Given the description of an element on the screen output the (x, y) to click on. 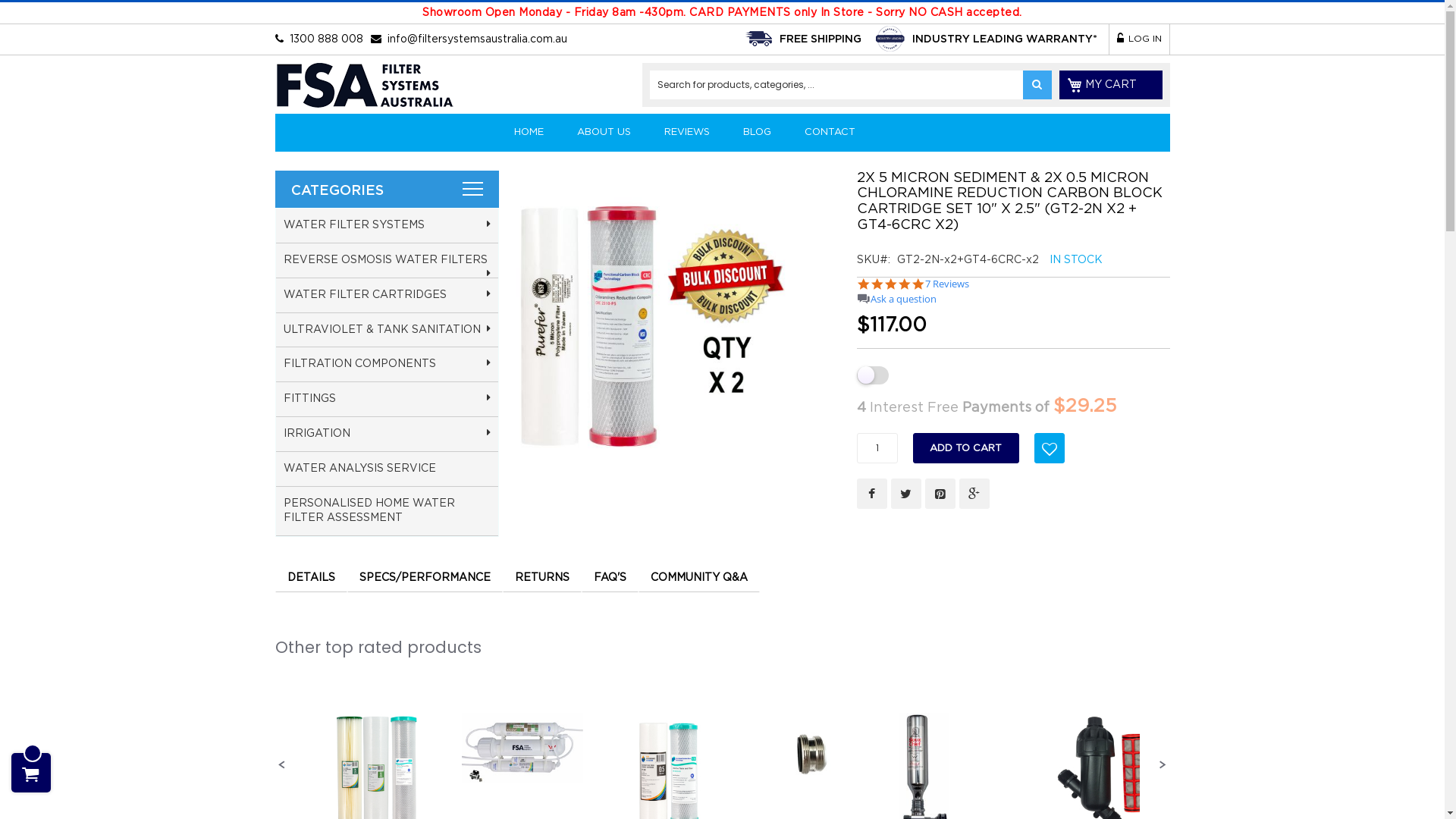
Qty Element type: hover (876, 448)
1300 888 008 Element type: text (326, 39)
ADD TO CART Element type: text (966, 448)
RETURNS Element type: text (541, 576)
FITTINGS Element type: text (387, 399)
Filter System Australia Element type: hover (363, 87)
INDUSTRY LEADING WARRANTY* Element type: text (1003, 39)
FAQ'S Element type: text (608, 576)
SPECS/PERFORMANCE Element type: text (424, 576)
IRRIGATION Element type: text (387, 434)
DETAILS Element type: text (310, 576)
FILTRATION COMPONENTS Element type: text (387, 364)
HOME Element type: text (528, 132)
Ask a question Element type: text (903, 298)
REVERSE OSMOSIS WATER FILTERS Element type: text (387, 260)
PERSONALISED HOME WATER FILTER ASSESSMENT Element type: text (387, 511)
LOG IN Element type: text (1139, 39)
WATER FILTER SYSTEMS Element type: text (387, 225)
ULTRAVIOLET & TANK SANITATION Element type: text (387, 329)
BLOG Element type: text (757, 132)
CONTACT Element type: text (828, 132)
FREE SHIPPING Element type: text (820, 39)
WATER ANALYSIS SERVICE Element type: text (387, 468)
Search Element type: hover (1036, 84)
7 Reviews Element type: text (947, 284)
WATER FILTER CARTRIDGES Element type: text (387, 295)
MY CART Element type: text (1109, 84)
REVIEWS Element type: text (686, 132)
ABOUT US Element type: text (603, 132)
COMMUNITY Q&A Element type: text (698, 576)
info@filtersystemsaustralia.com.au Element type: text (476, 39)
